Given the description of an element on the screen output the (x, y) to click on. 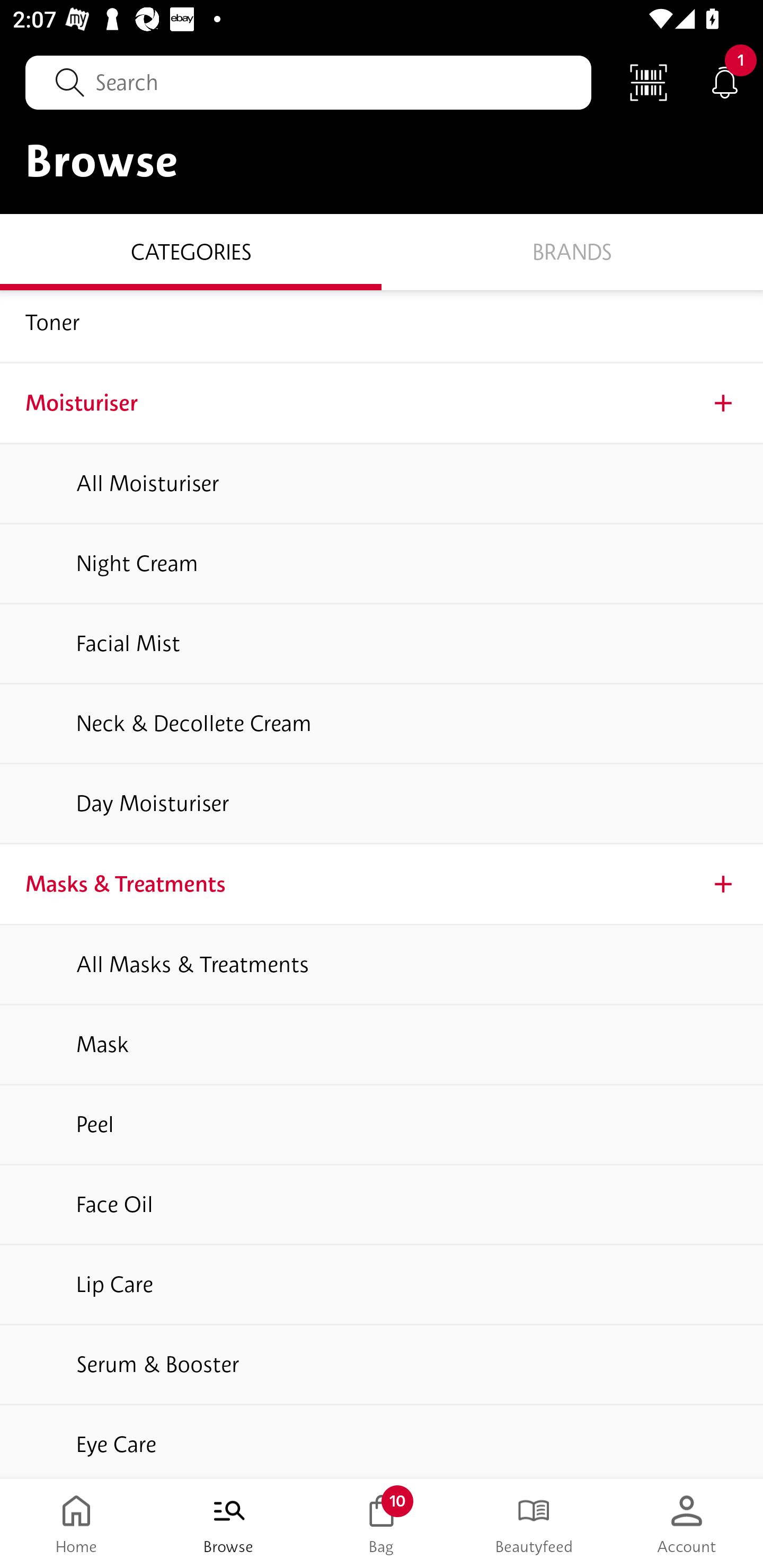
Scan Code (648, 81)
Notifications (724, 81)
Search (308, 81)
Brands BRANDS (572, 251)
Toner (381, 326)
All Moisturiser (381, 483)
Night Cream (381, 563)
Facial Mist (381, 643)
Neck & Decollete Cream (381, 724)
Day Moisturiser (381, 805)
All Masks & Treatments (381, 965)
Mask (381, 1045)
Peel (381, 1125)
Face Oil (381, 1204)
Lip Care (381, 1284)
Serum & Booster (381, 1364)
Eye Care (381, 1441)
Home (76, 1523)
Bag 10 Bag (381, 1523)
Beautyfeed (533, 1523)
Account (686, 1523)
